Given the description of an element on the screen output the (x, y) to click on. 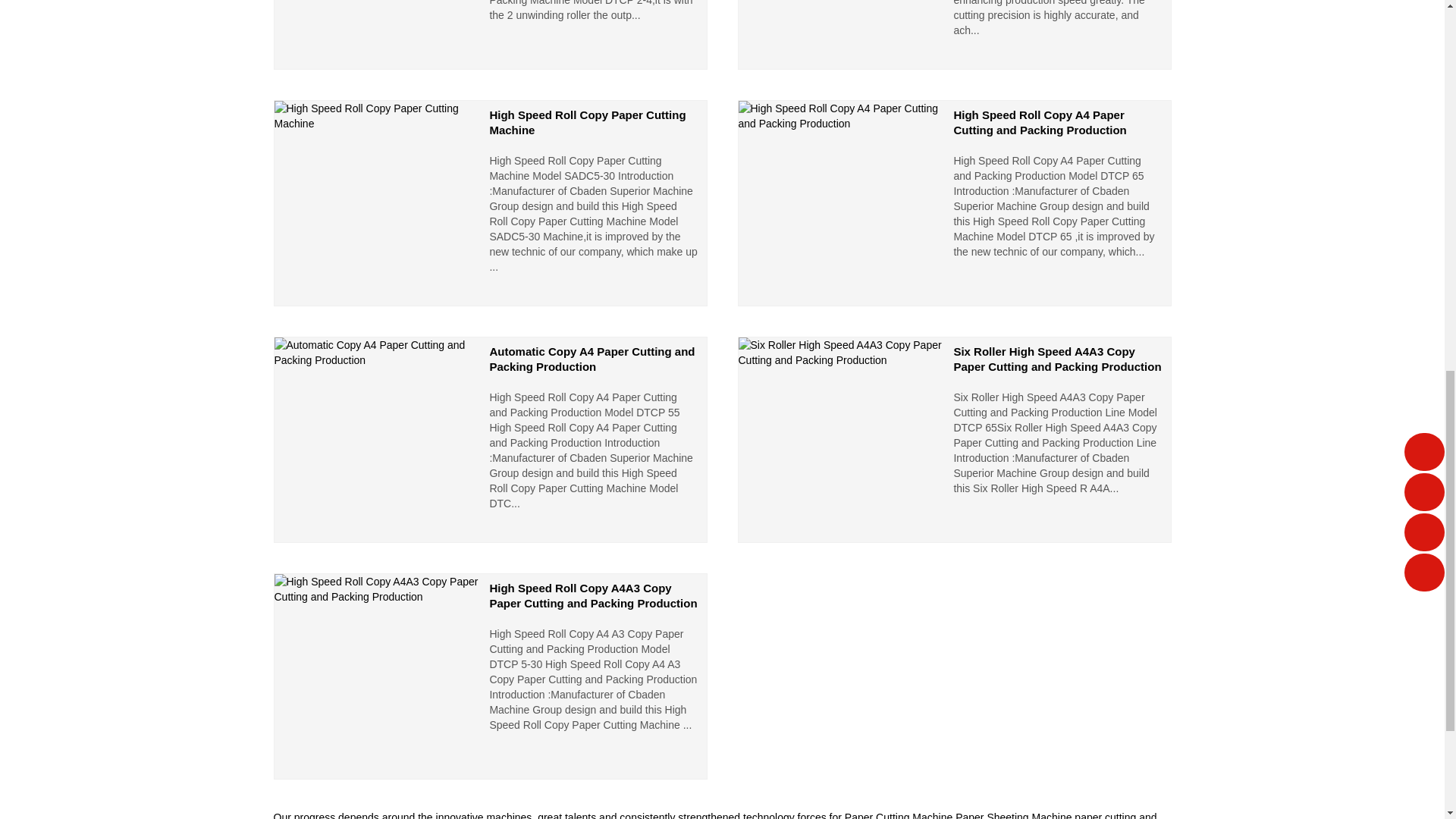
4 Pockets Cut Size Sheeter with Ream Wrapping Unit (953, 34)
Automatic Copy A4 Paper Cutting and Packing Production (489, 439)
Copy Paper Cutting and Packing Machine (489, 34)
High Speed Roll Copy A4 Paper Cutting and Packing Production (953, 202)
High Speed Roll Copy Paper Cutting Machine (489, 202)
